Given the description of an element on the screen output the (x, y) to click on. 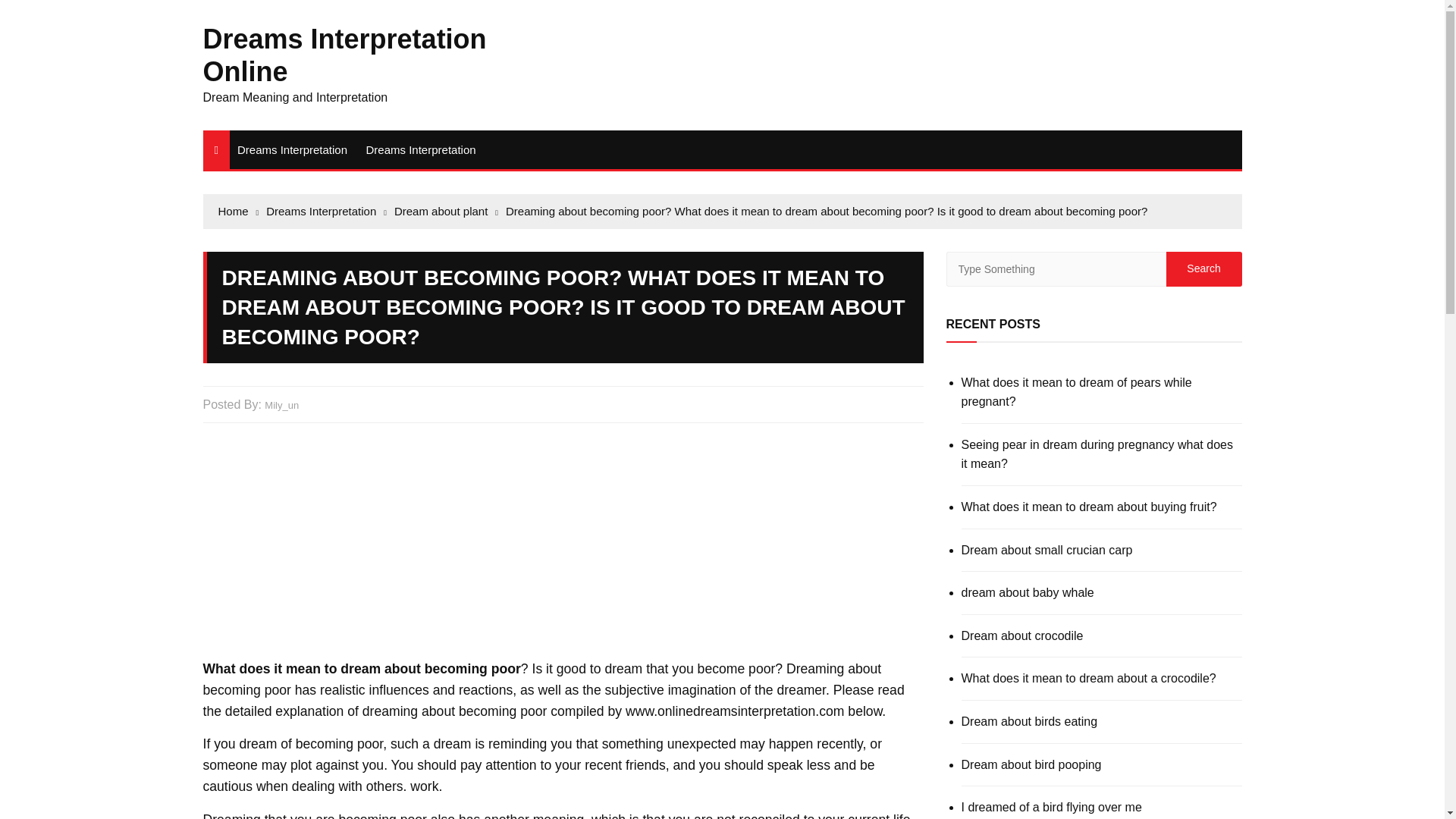
Search (1203, 268)
Dreams Interpretation (420, 149)
Dreams Interpretation (292, 149)
Dreams Interpretation Online (344, 54)
